Given the description of an element on the screen output the (x, y) to click on. 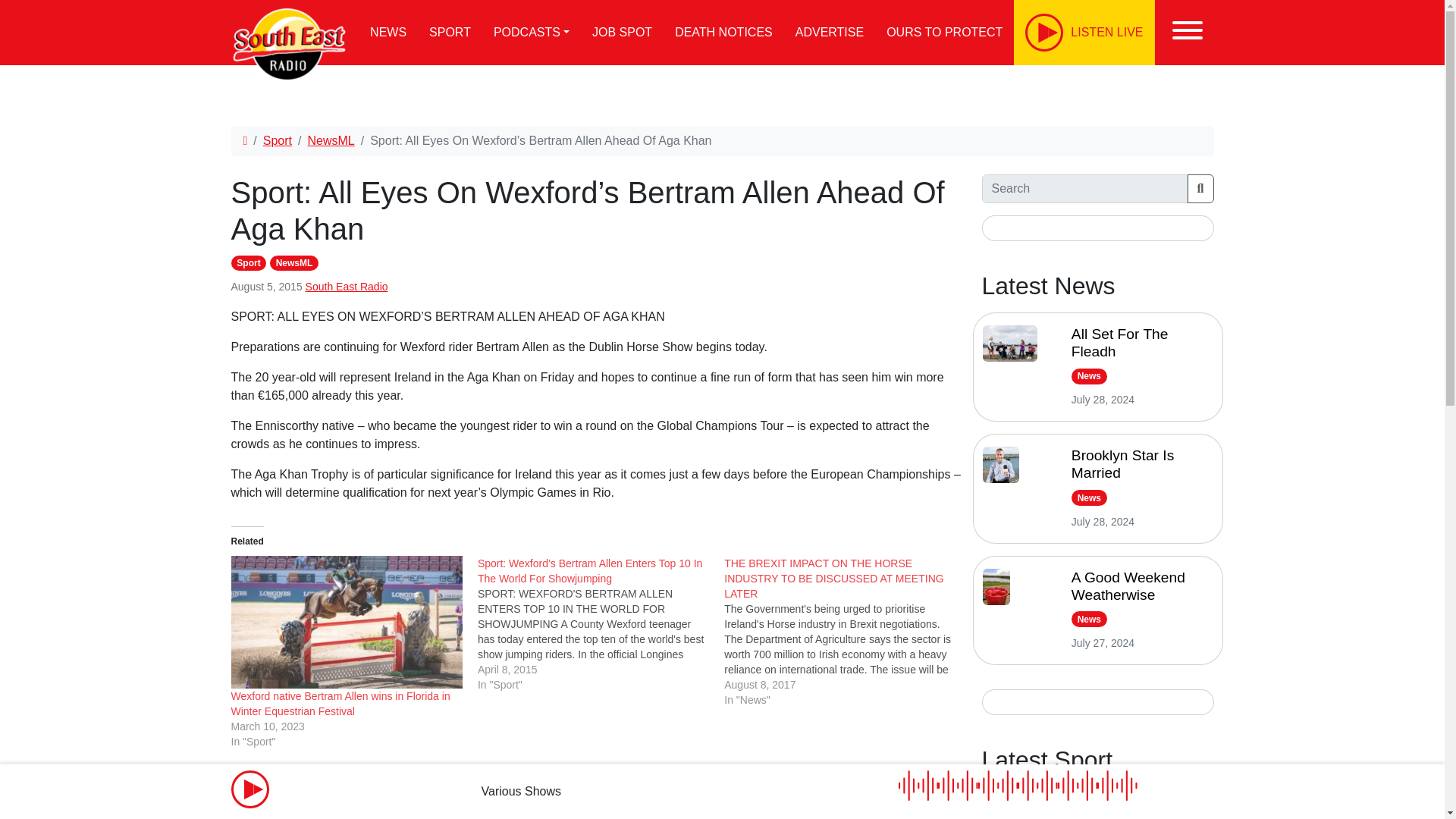
DEATH NOTICES (723, 32)
LISTEN LIVE (1083, 32)
NEWS (387, 32)
SPORT (449, 32)
NewsML (331, 140)
PODCASTS (530, 32)
Sport (248, 263)
OURS TO PROTECT (944, 32)
Sport (277, 140)
ADVERTISE (829, 32)
JOB SPOT (621, 32)
